Given the description of an element on the screen output the (x, y) to click on. 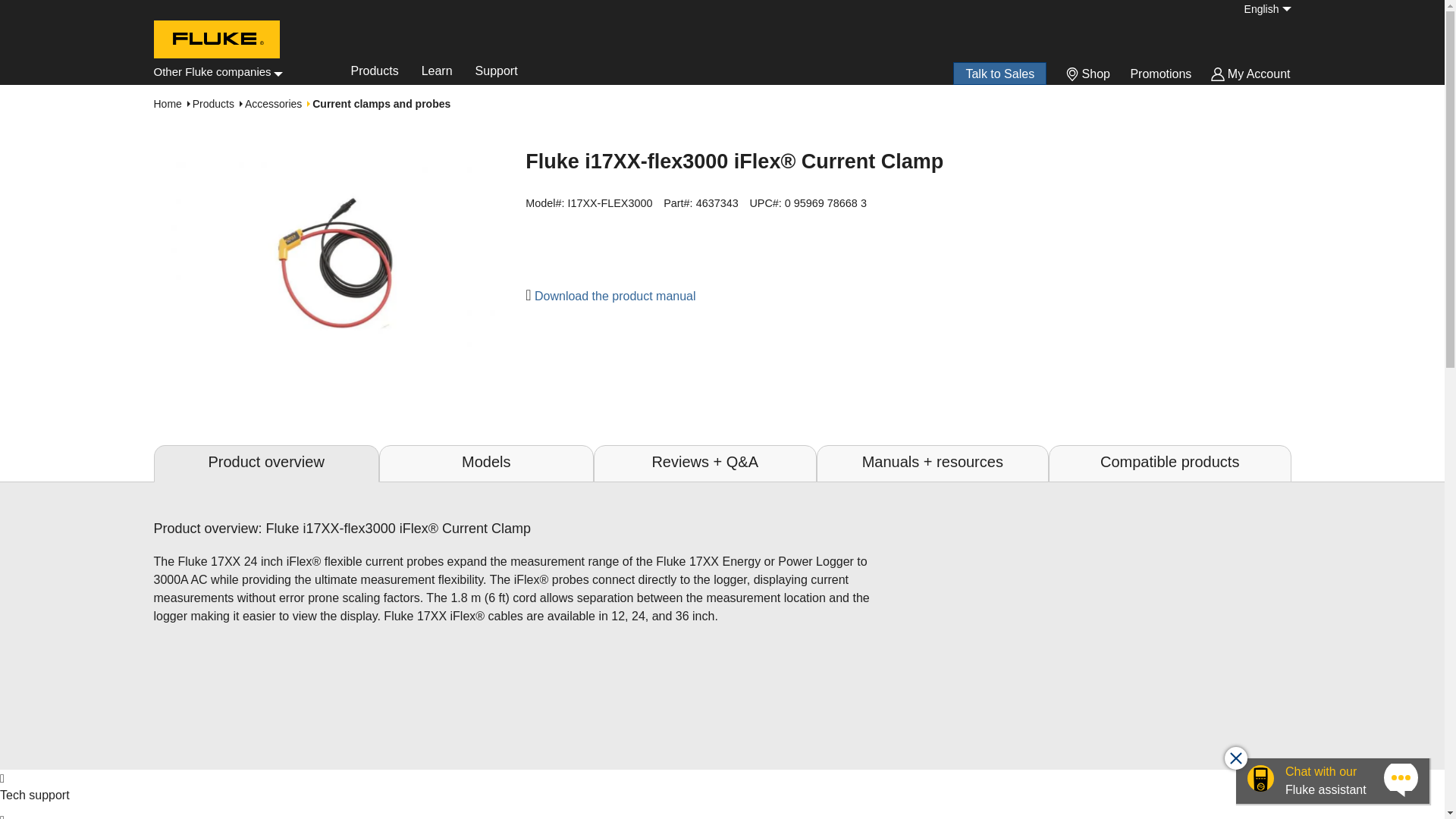
Fluke (213, 72)
Home (215, 41)
English (1259, 9)
Other Fluke companies (217, 71)
Products (374, 73)
Home (213, 72)
